Given the description of an element on the screen output the (x, y) to click on. 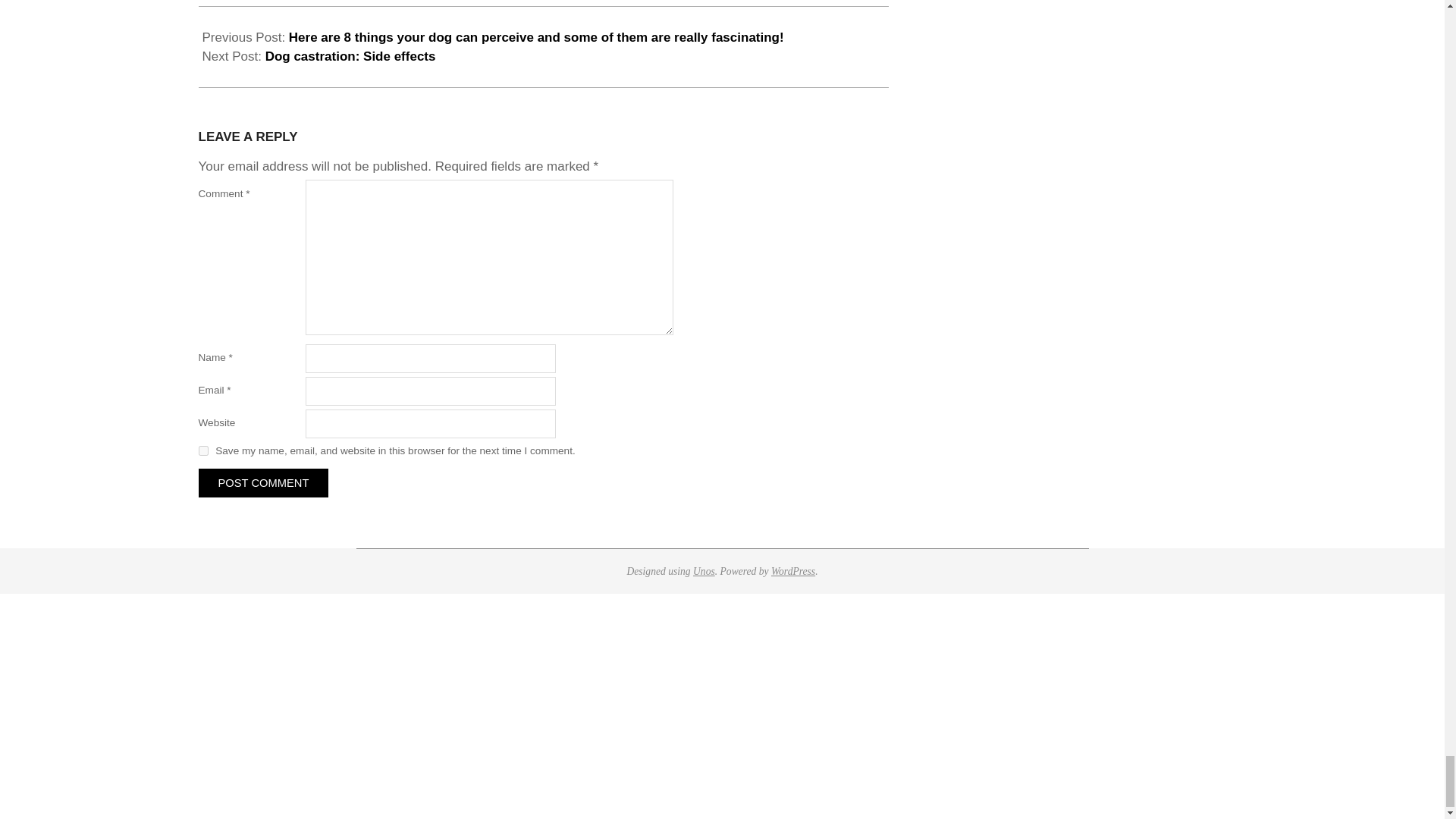
yes (203, 450)
Post Comment (263, 482)
WordPress (793, 571)
Unos WordPress Theme (703, 571)
Unos (703, 571)
Post Comment (263, 482)
Dog castration: Side effects (349, 56)
